Given the description of an element on the screen output the (x, y) to click on. 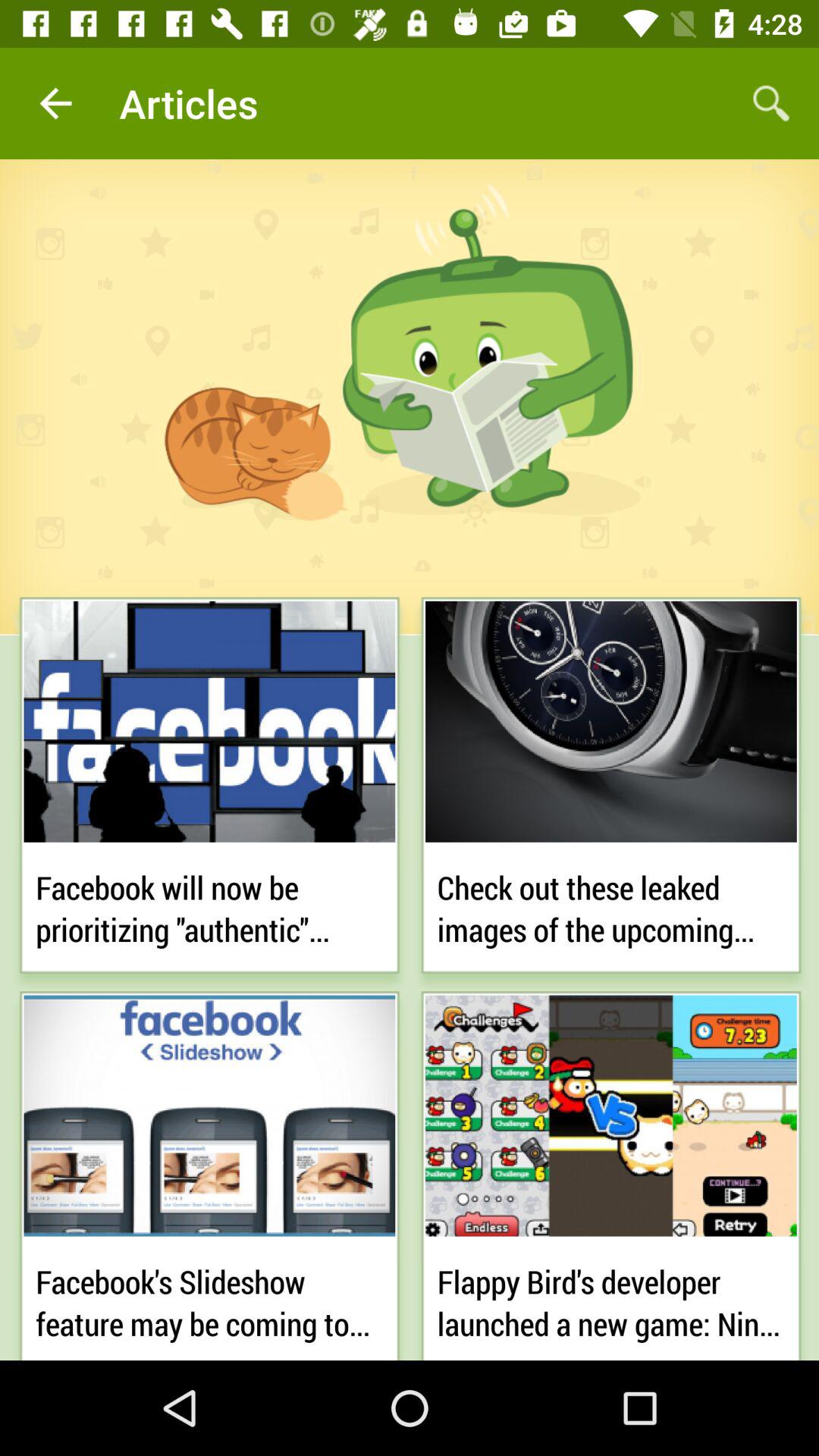
launch the facebook will now item (209, 905)
